Given the description of an element on the screen output the (x, y) to click on. 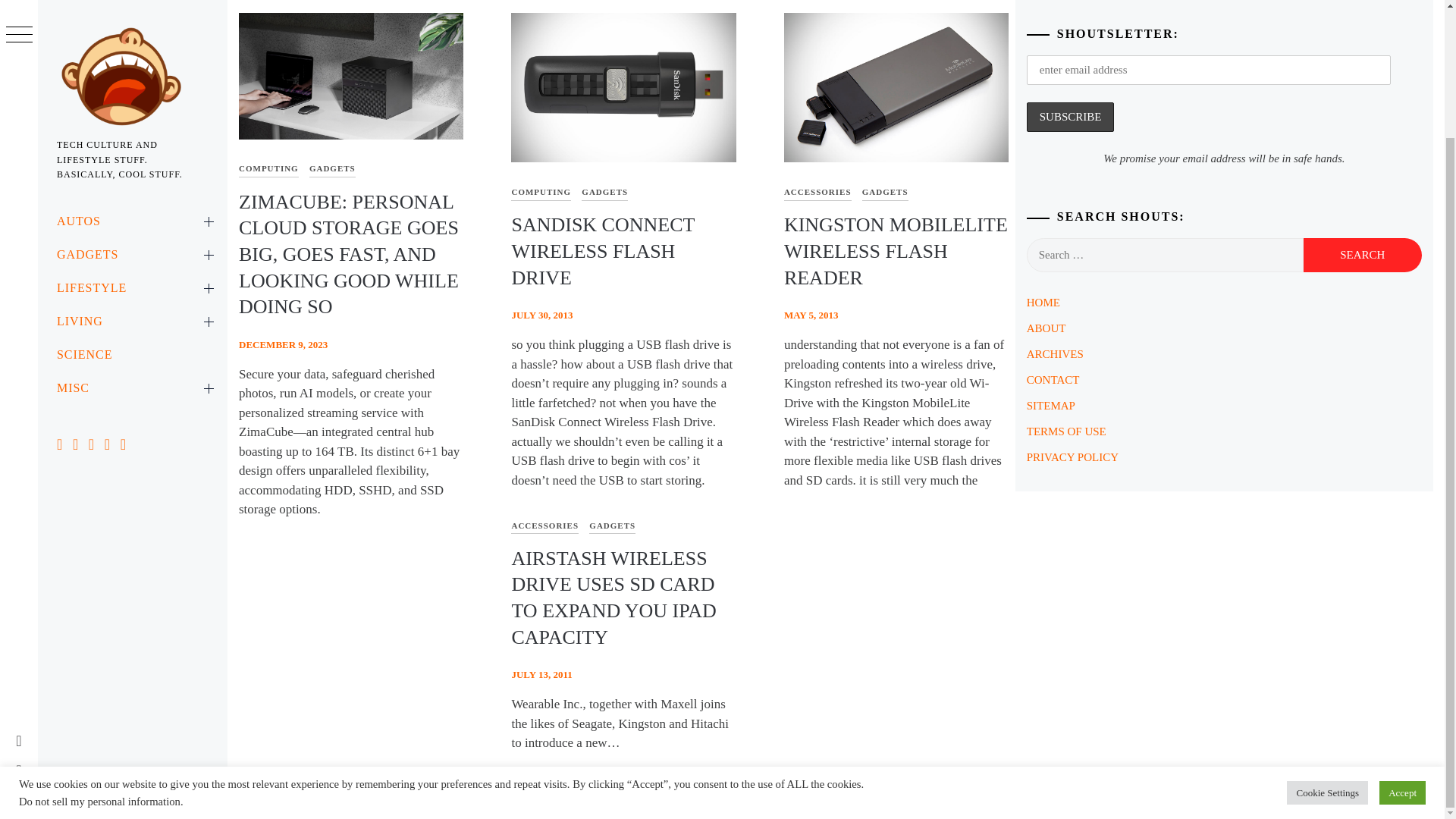
SCIENCE (132, 200)
Search (1362, 254)
LIVING (132, 166)
Search (1362, 254)
SUBSCRIBE (1070, 116)
LIFESTYLE (132, 133)
GADGETS (132, 100)
AUTOS (132, 66)
MISC (132, 233)
